Given the description of an element on the screen output the (x, y) to click on. 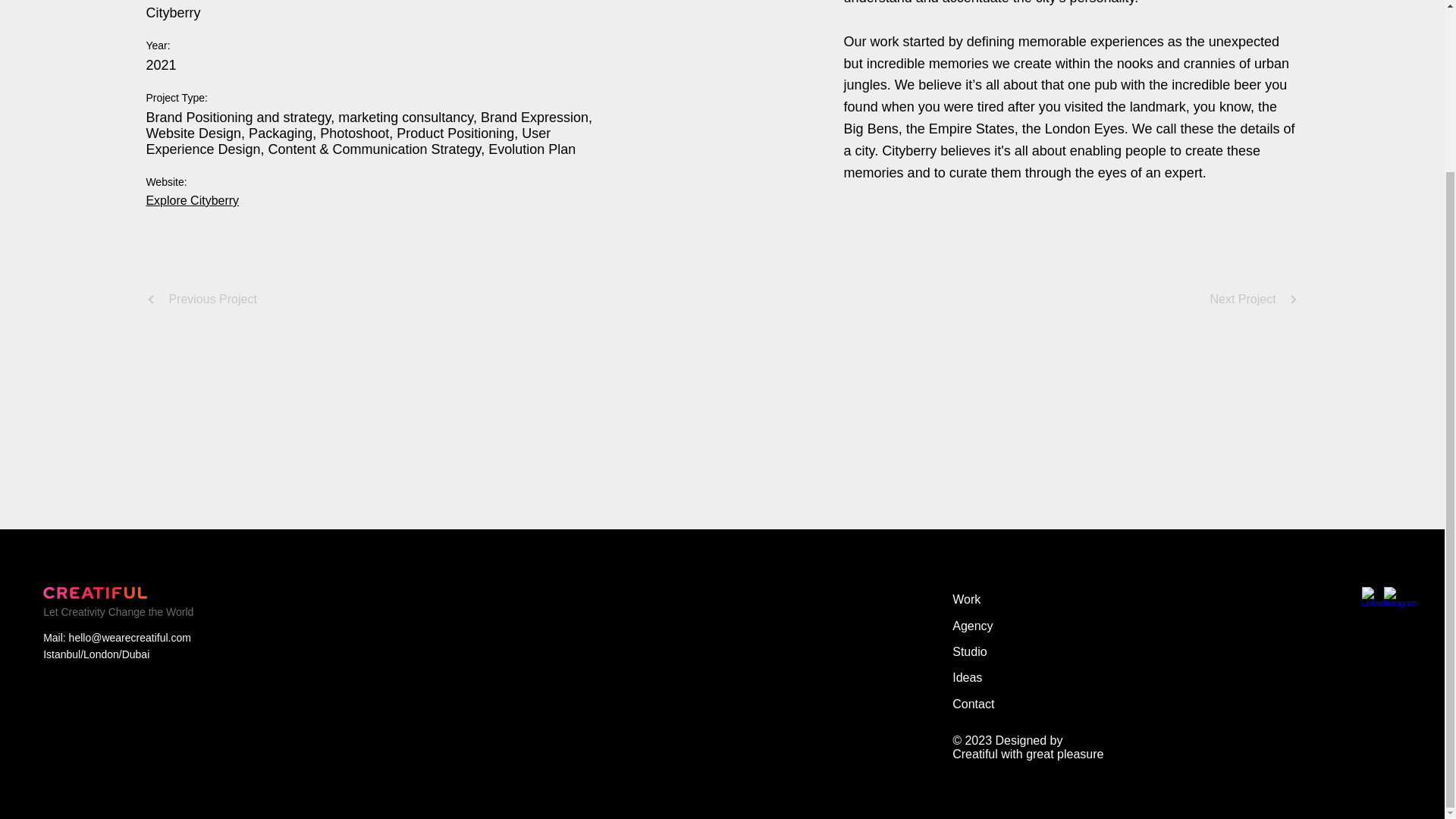
Previous Project (201, 299)
Contact (1013, 704)
Agency (1013, 626)
Next Project (1253, 299)
Work (1013, 599)
Ideas (1013, 678)
Studio (1013, 652)
Explore Cityberry (191, 200)
